Given the description of an element on the screen output the (x, y) to click on. 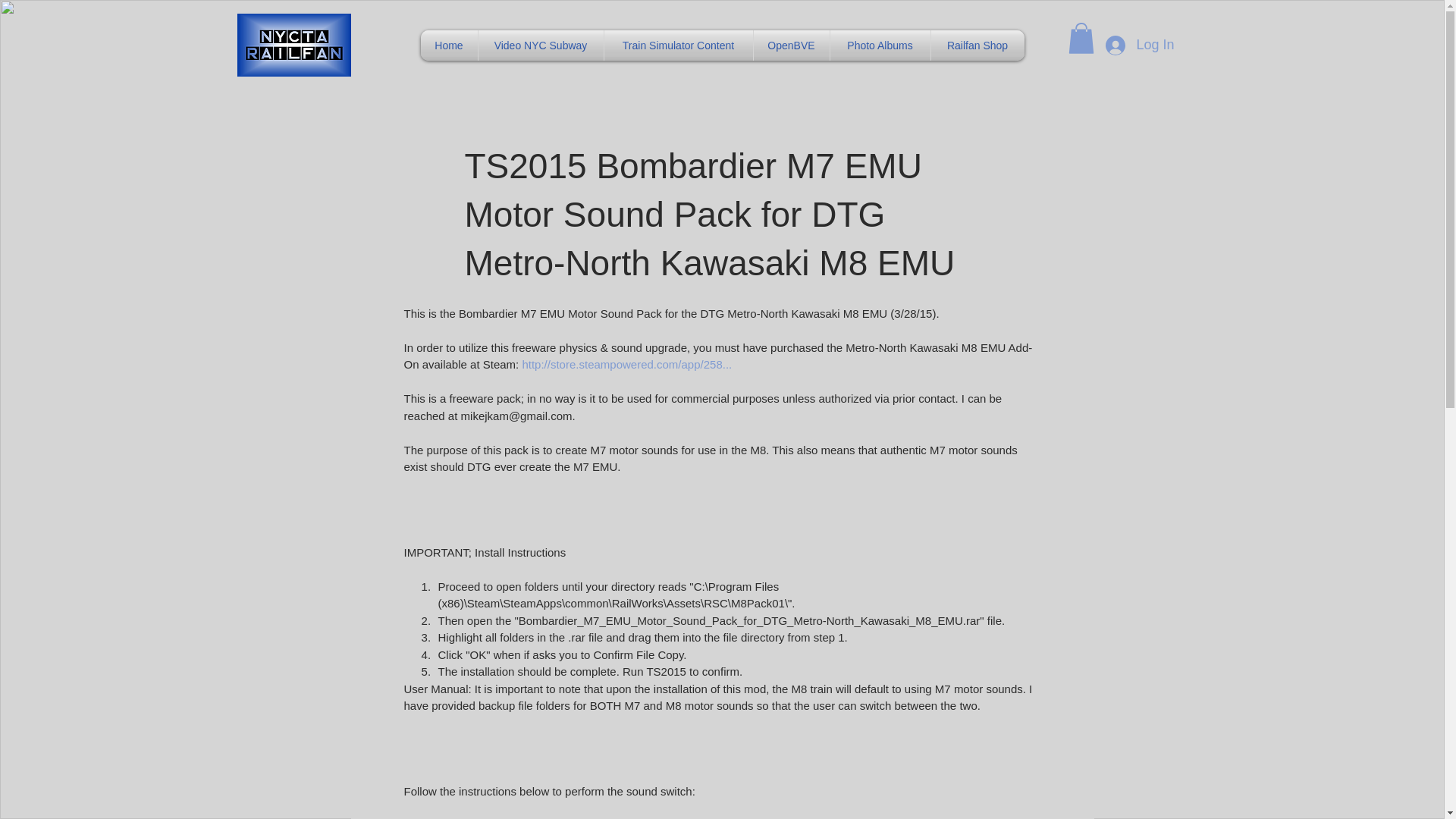
Photo Albums (879, 45)
Video NYC Subway (539, 45)
Home (448, 45)
Log In (1139, 45)
Railfan Shop (978, 45)
